Given the description of an element on the screen output the (x, y) to click on. 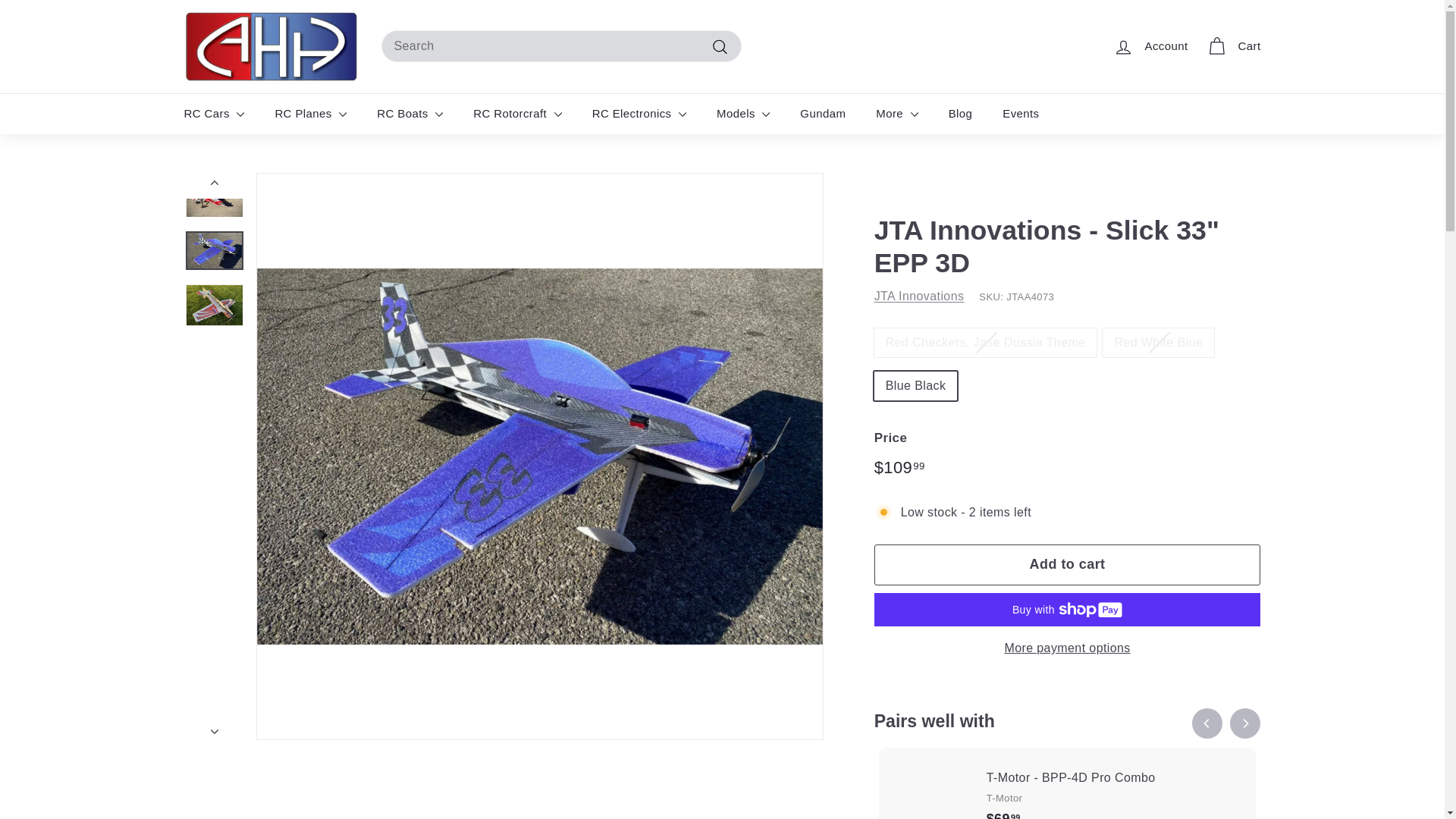
JTA Innovations (919, 295)
Cart (1232, 46)
Account (1149, 46)
